Given the description of an element on the screen output the (x, y) to click on. 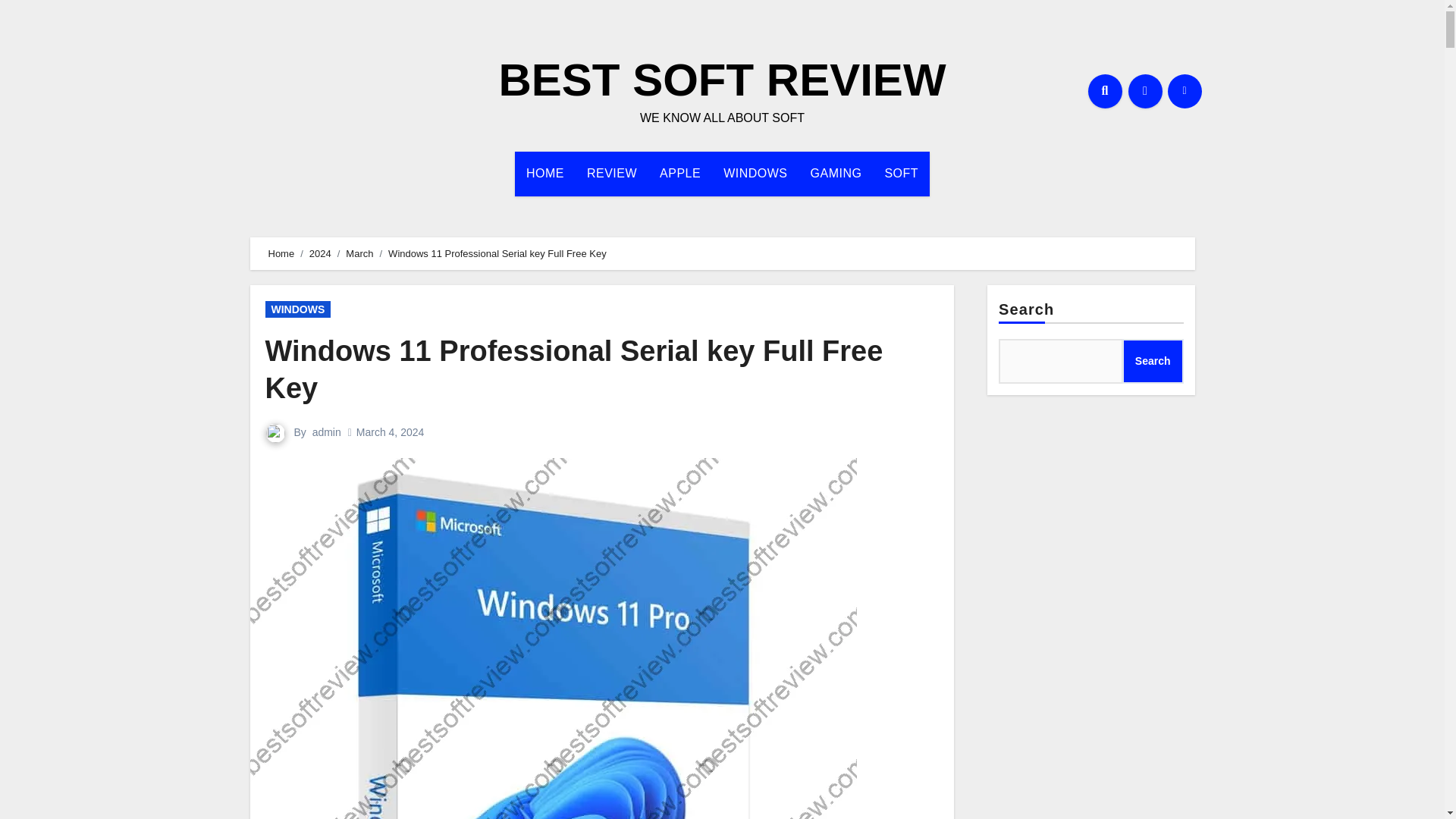
SOFT (901, 173)
admin (326, 431)
WINDOWS (754, 173)
Windows 11 Professional Serial key Full Free Key (573, 369)
March (359, 253)
HOME (545, 173)
BEST SOFT REVIEW (720, 79)
March 4, 2024 (390, 431)
2024 (319, 253)
